Given the description of an element on the screen output the (x, y) to click on. 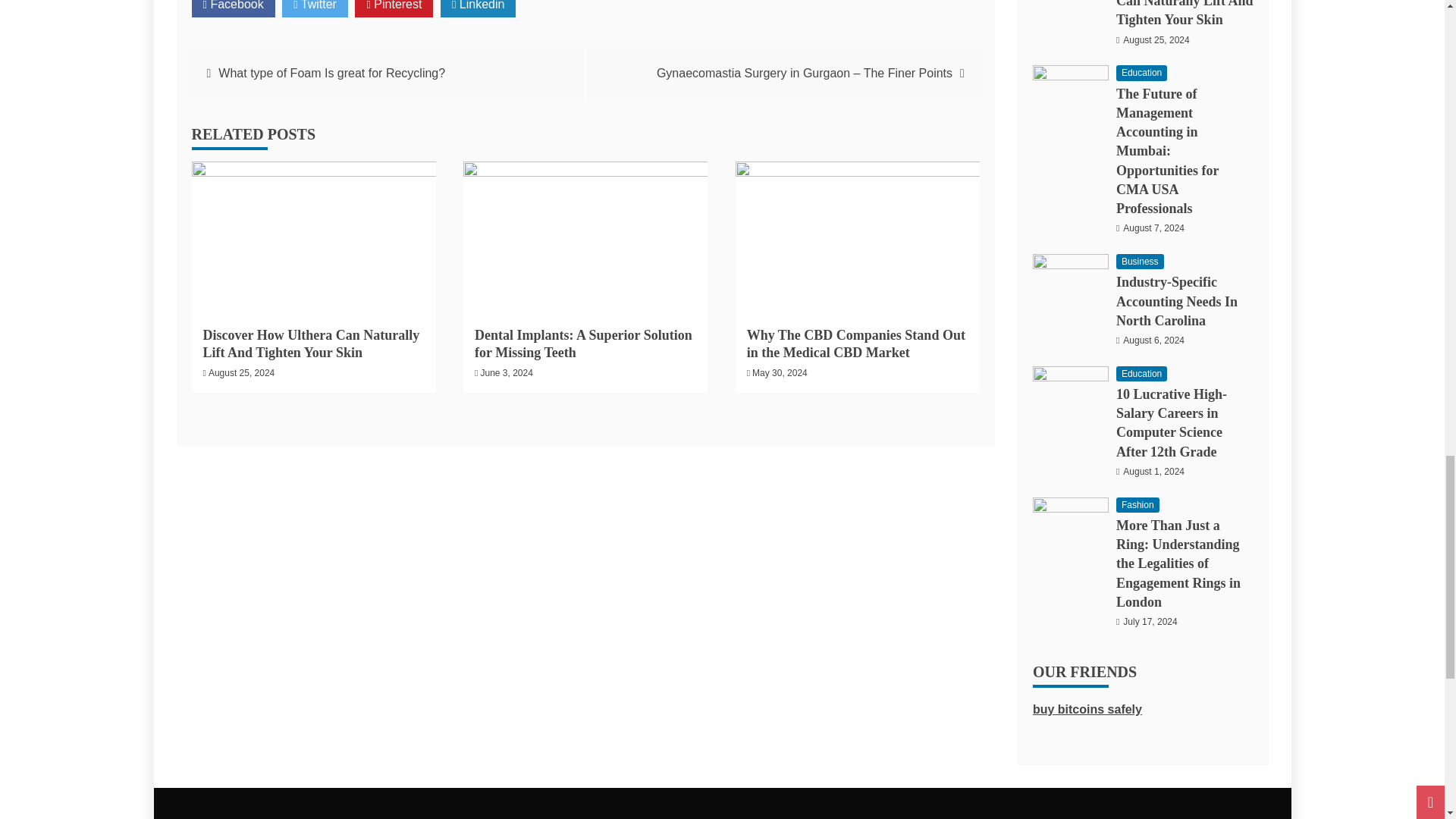
May 30, 2024 (780, 372)
June 3, 2024 (506, 372)
What type of Foam Is great for Recycling? (331, 72)
August 25, 2024 (241, 372)
Pinterest (393, 8)
Why The CBD Companies Stand Out in the Medical CBD Market (855, 343)
Linkedin (478, 8)
Facebook (232, 8)
Twitter (314, 8)
